Given the description of an element on the screen output the (x, y) to click on. 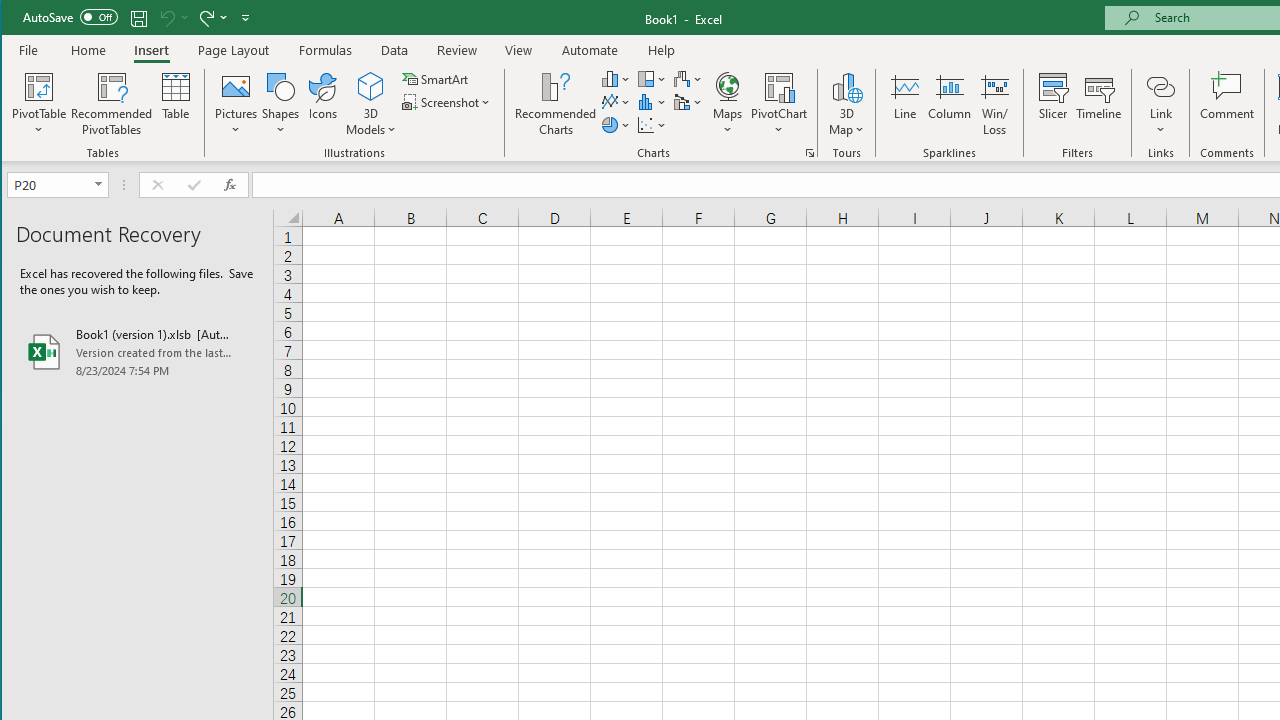
Insert Line or Area Chart (616, 101)
PivotChart (779, 86)
Insert Waterfall, Funnel, Stock, Surface, or Radar Chart (688, 78)
Link (1160, 104)
Automate (589, 50)
Link (1160, 86)
PivotChart (779, 104)
Name Box (49, 184)
Pictures (235, 104)
Line (904, 104)
Insert Scatter (X, Y) or Bubble Chart (652, 124)
Review (456, 50)
System (19, 18)
Shapes (280, 104)
Comment (1227, 104)
